Given the description of an element on the screen output the (x, y) to click on. 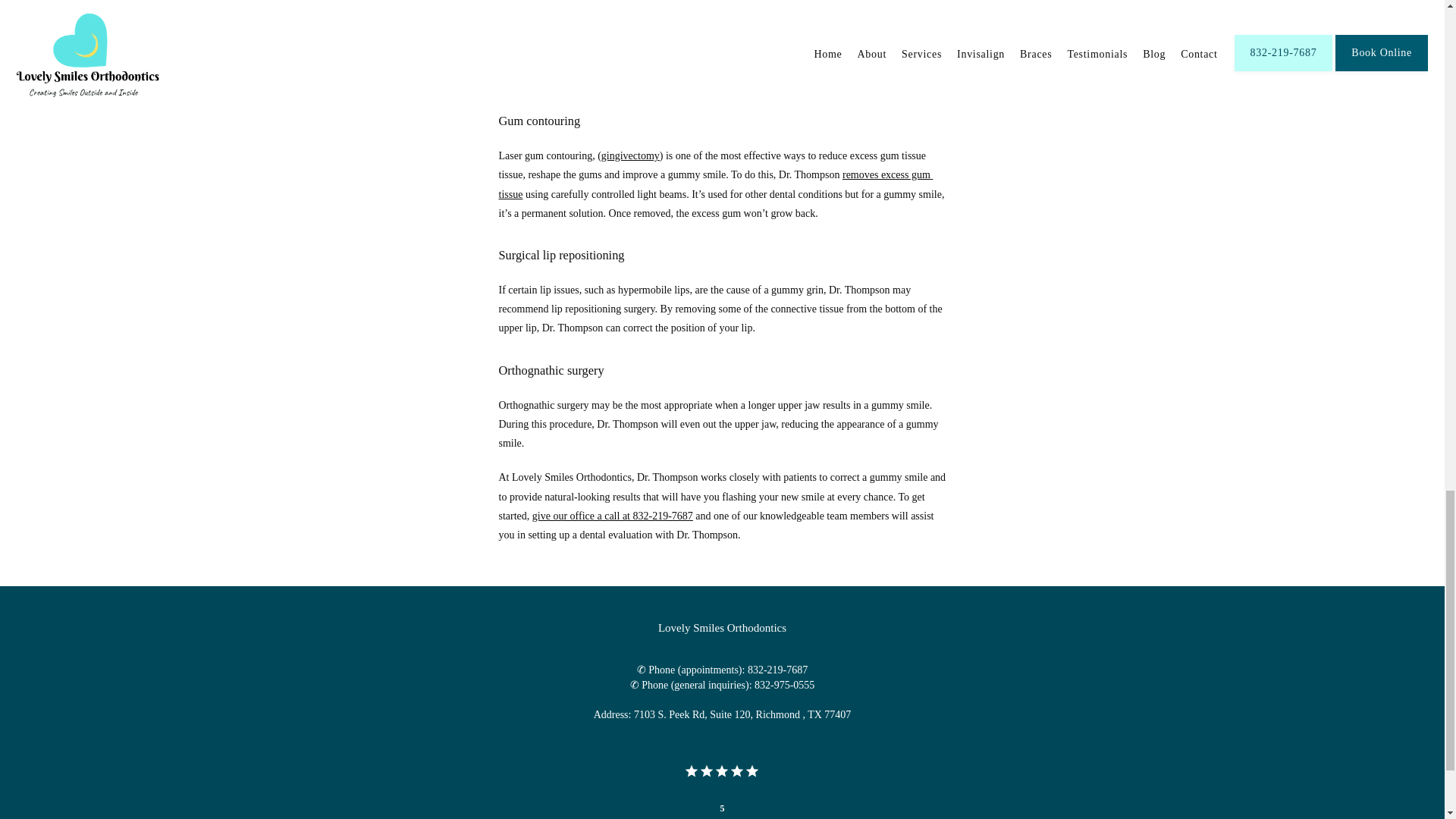
removes excess gum tissue (716, 183)
gingivectomy (630, 155)
give our office a call at 832-219-7687 (612, 515)
